Given the description of an element on the screen output the (x, y) to click on. 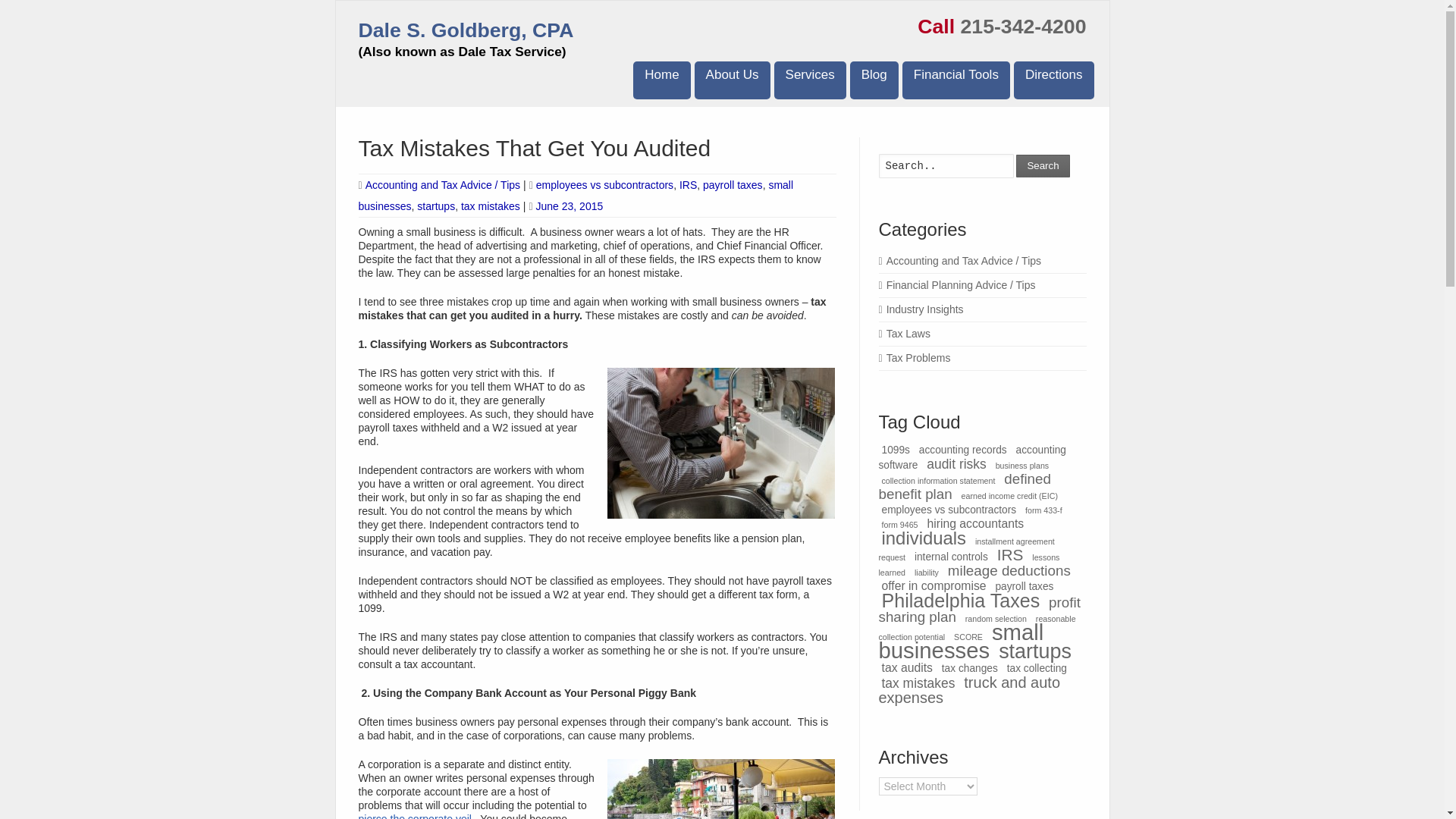
Phladelphia CPAs (661, 80)
Directions (1053, 80)
Search.. (945, 165)
tax mistakes (490, 205)
Dale S. Goldberg, CPA (465, 30)
small businesses (575, 195)
Blog (874, 80)
pierce the corporate veil (414, 816)
215-342-4200 (1022, 26)
IRS (688, 184)
Services (809, 80)
About Us (732, 80)
employees vs subcontractors (603, 184)
June 23, 2015 (565, 205)
startups (435, 205)
